Given the description of an element on the screen output the (x, y) to click on. 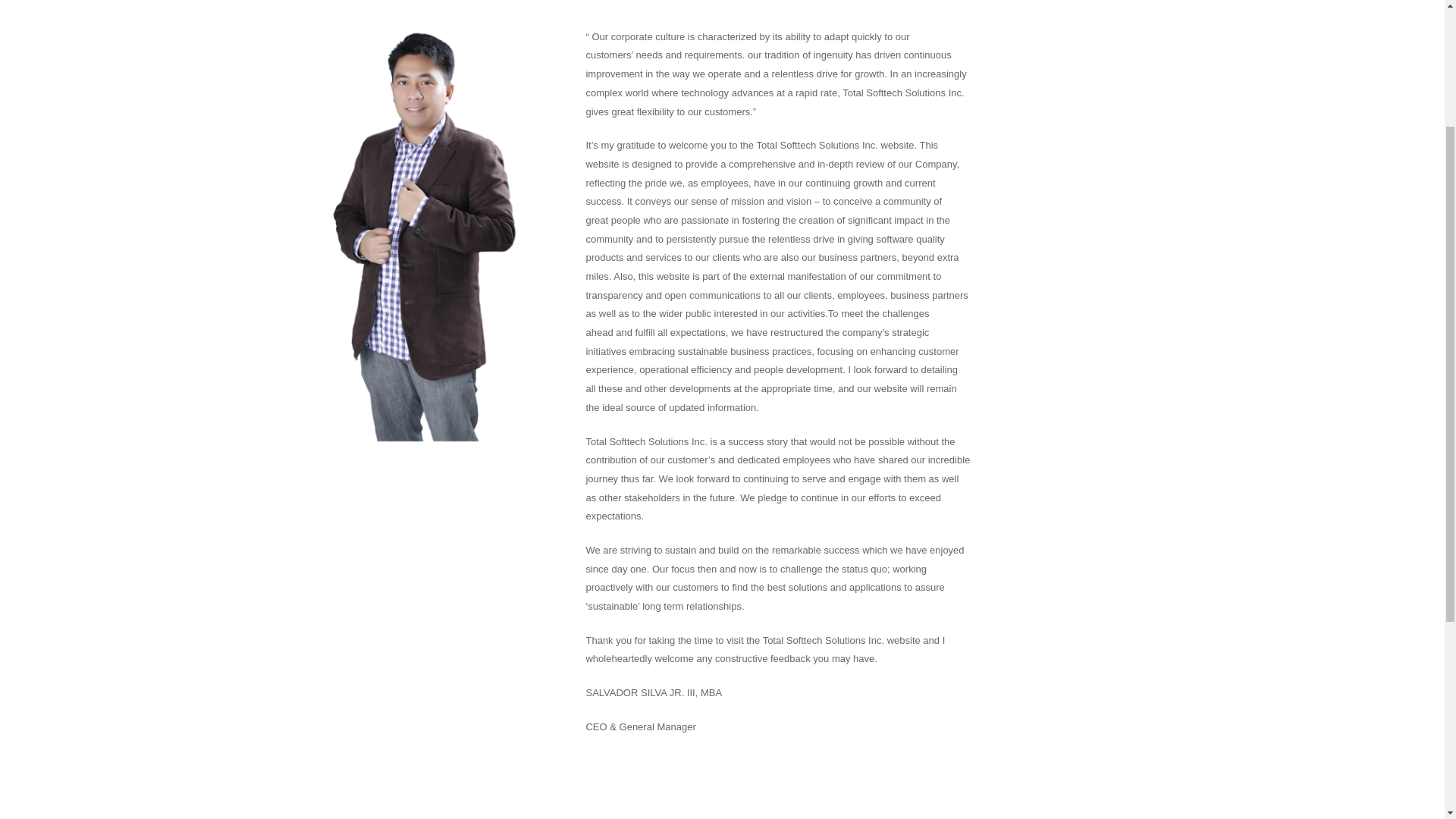
Management Set Up (334, 469)
Management Team (331, 443)
Careers (306, 417)
